Given the description of an element on the screen output the (x, y) to click on. 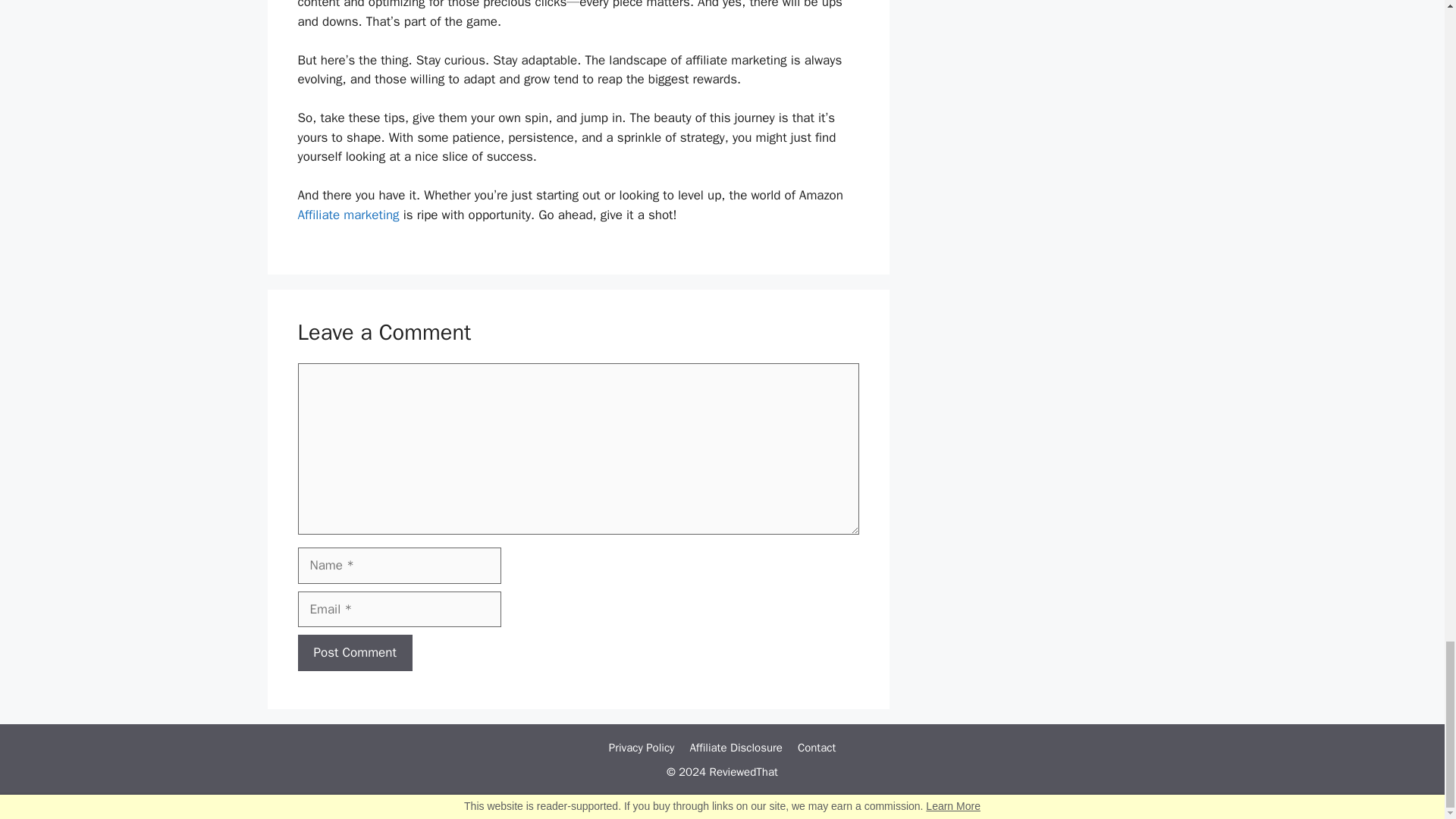
Post Comment (354, 652)
Post Comment (354, 652)
ReviewedThat (743, 771)
Affiliate marketing (347, 214)
Affiliate Disclosure (735, 747)
Privacy Policy (641, 747)
Contact (816, 747)
